Given the description of an element on the screen output the (x, y) to click on. 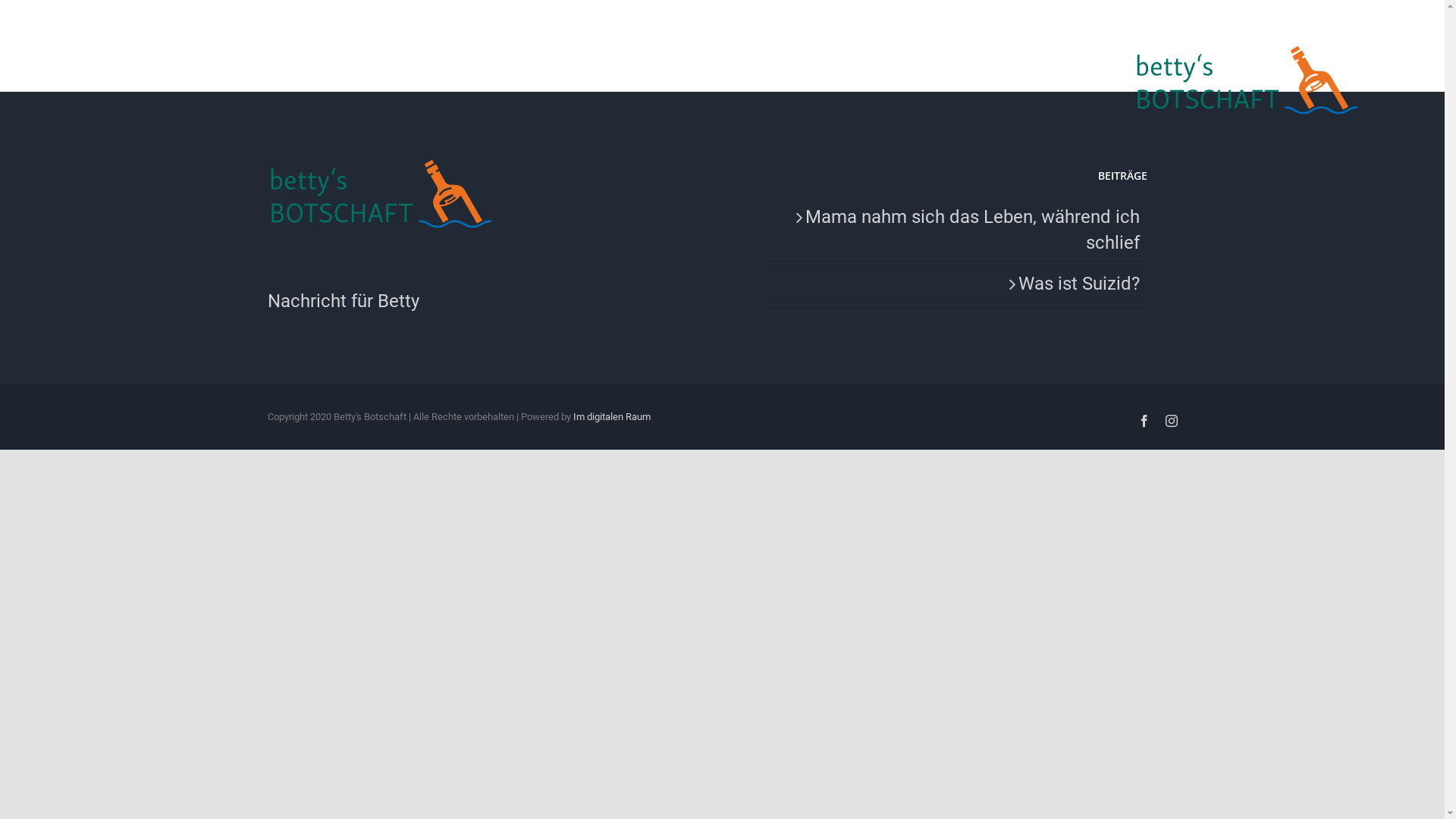
Im digitalen Raum Element type: text (611, 416)
Instagram Element type: text (1170, 420)
Was ist Suizid? Element type: text (956, 284)
Facebook Element type: text (1143, 420)
